Given the description of an element on the screen output the (x, y) to click on. 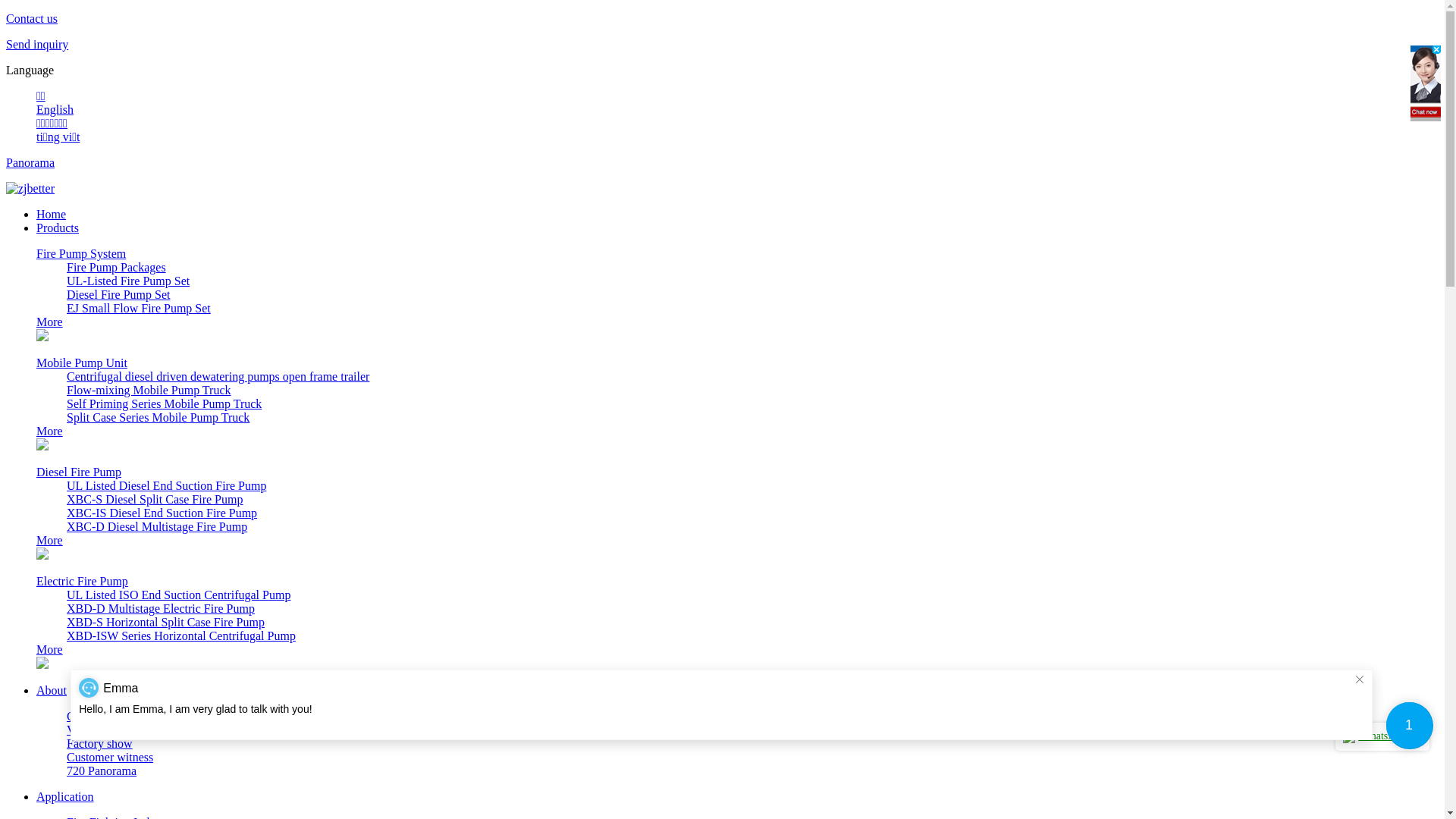
WhatsApp me Element type: text (1382, 736)
XBD-S Horizontal Split Case Fire Pump Element type: text (165, 621)
Video Element type: text (80, 729)
Home Element type: text (50, 213)
1
Emma
Hello, I am Emma, I am very glad to talk with you! Element type: text (1409, 725)
More Element type: text (49, 649)
EJ Small Flow Fire Pump Set Element type: text (138, 307)
Mobile Pump Unit Element type: text (81, 362)
UL Listed ISO End Suction Centrifugal Pump Element type: text (178, 594)
Diesel Fire Pump Set Element type: text (117, 294)
Application Element type: text (65, 796)
Fire Pump System Element type: text (80, 253)
XBC-S Diesel Split Case Fire Pump Element type: text (154, 498)
More Element type: text (49, 321)
Products Element type: text (57, 227)
720 Panorama Element type: text (101, 770)
Diesel Fire Pump Element type: text (78, 471)
Self Priming Series Mobile Pump Truck Element type: text (163, 403)
Panorama Element type: text (722, 162)
XBD-ISW Series Horizontal Centrifugal Pump Element type: text (180, 635)
Factory show Element type: text (99, 743)
Emma
Hello, I am Emma, I am very glad to talk with you! Element type: text (721, 704)
Company Profile Element type: text (108, 715)
English Element type: text (54, 109)
Electric Fire Pump Element type: text (82, 580)
XBD-D Multistage Electric Fire Pump Element type: text (160, 608)
More Element type: text (49, 430)
UL-Listed Fire Pump Set Element type: text (127, 280)
Split Case Series Mobile Pump Truck Element type: text (157, 417)
XBC-D Diesel Multistage Fire Pump Element type: text (156, 526)
About Element type: text (51, 690)
XBC-IS Diesel End Suction Fire Pump Element type: text (161, 512)
Customer witness Element type: text (109, 756)
Flow-mixing Mobile Pump Truck Element type: text (148, 389)
UL Listed Diesel End Suction Fire Pump Element type: text (166, 485)
Fire Pump Packages Element type: text (116, 266)
Send inquiry Element type: text (722, 44)
Contact us Element type: text (722, 18)
More Element type: text (49, 539)
